Given the description of an element on the screen output the (x, y) to click on. 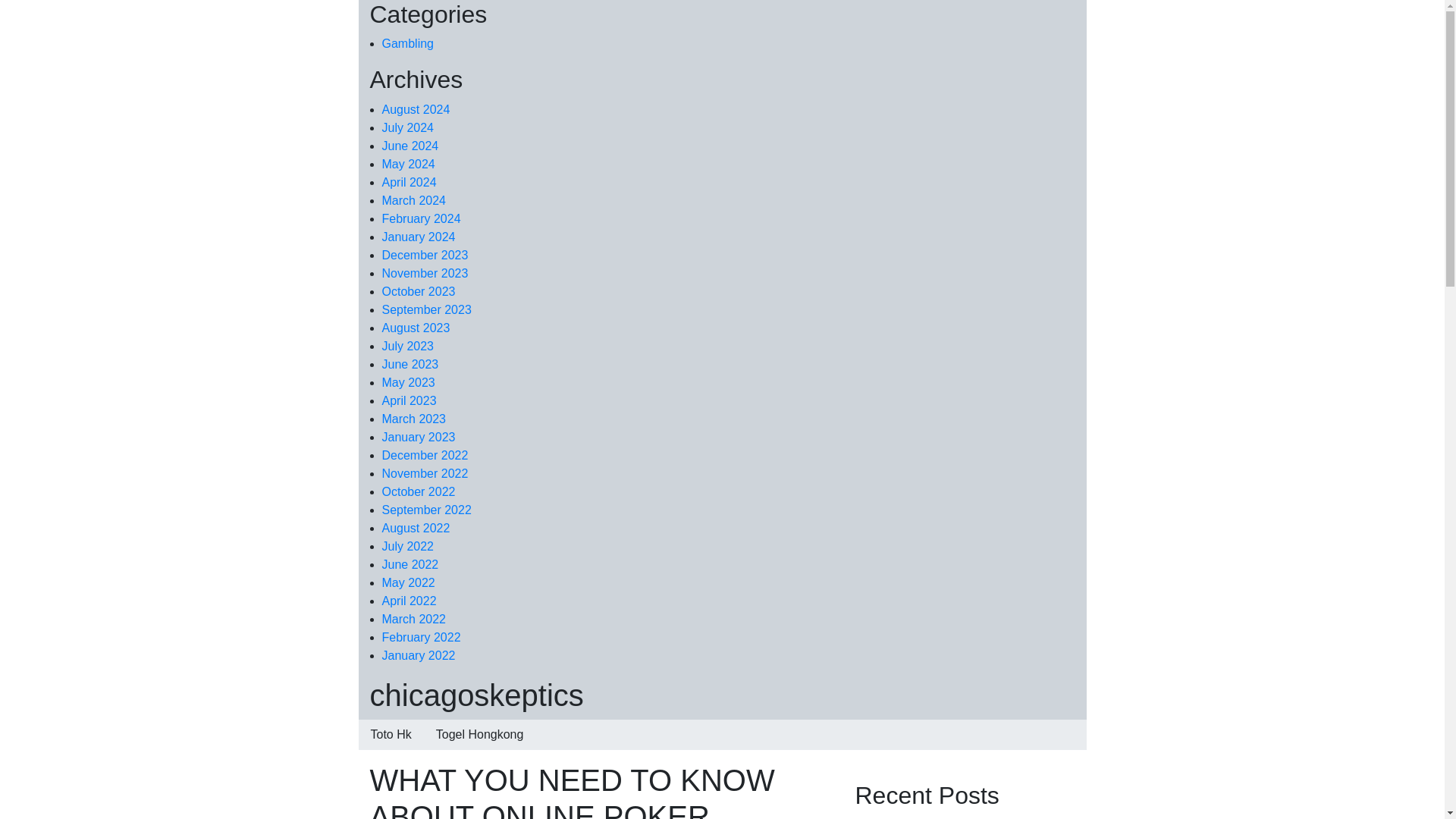
September 2023 (426, 309)
April 2023 (408, 400)
July 2024 (407, 127)
August 2024 (415, 109)
December 2022 (424, 454)
November 2023 (424, 273)
March 2023 (413, 418)
August 2022 (415, 527)
January 2022 (418, 655)
chicagoskeptics (476, 694)
